Given the description of an element on the screen output the (x, y) to click on. 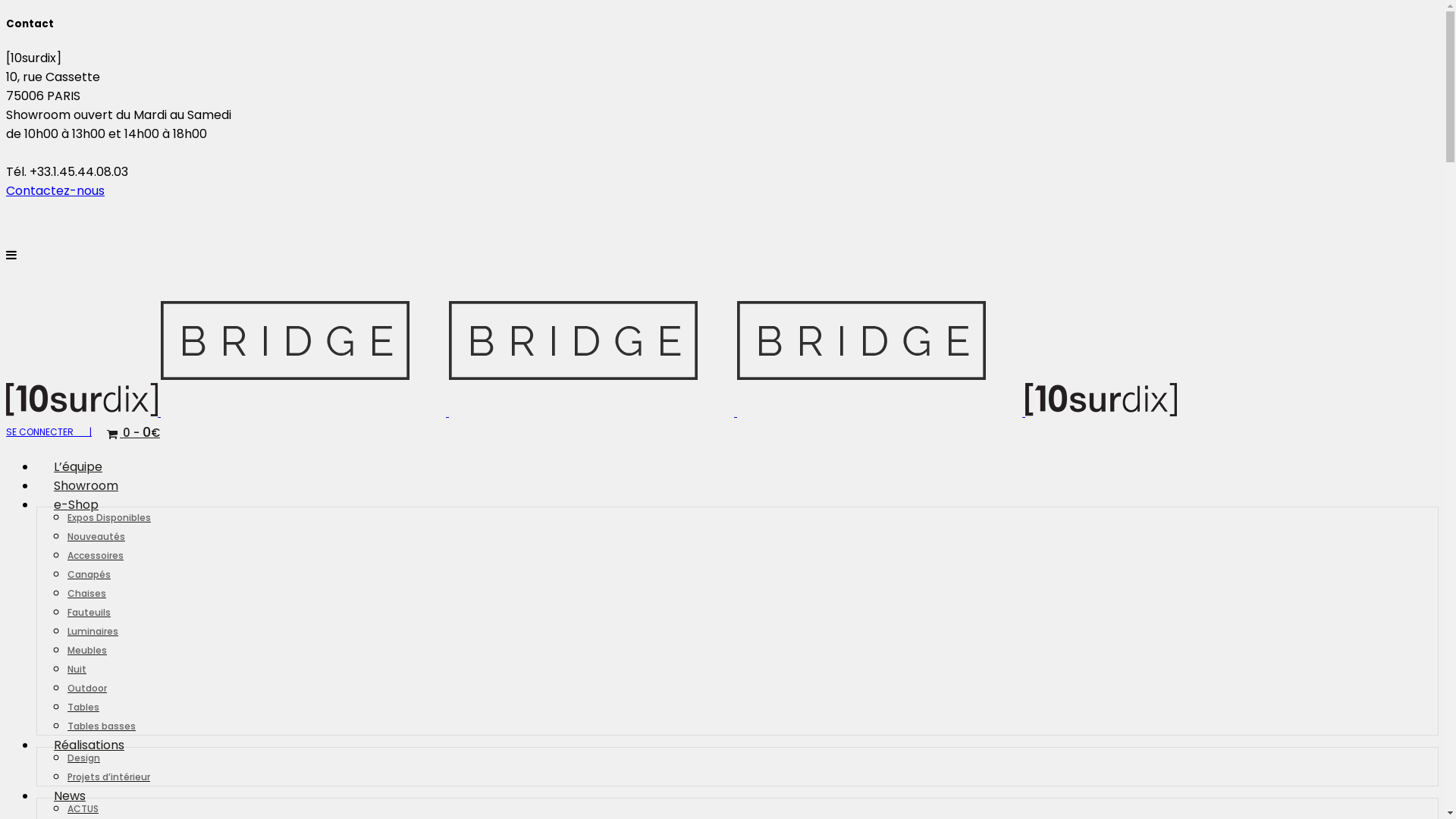
Tables Element type: text (83, 706)
ACTUS Element type: text (82, 807)
Accessoires Element type: text (95, 554)
Design Element type: text (83, 756)
News Element type: text (69, 795)
Meubles Element type: text (86, 649)
Outdoor Element type: text (86, 687)
Showroom Element type: text (85, 485)
Tables basses Element type: text (101, 725)
Expos Disponibles Element type: text (108, 516)
Chaises Element type: text (86, 592)
SE CONNECTER       | Element type: text (48, 431)
Contactez-nous Element type: text (55, 190)
e-Shop Element type: text (76, 504)
Luminaires Element type: text (92, 630)
Fauteuils Element type: text (88, 611)
Nuit Element type: text (76, 668)
